Given the description of an element on the screen output the (x, y) to click on. 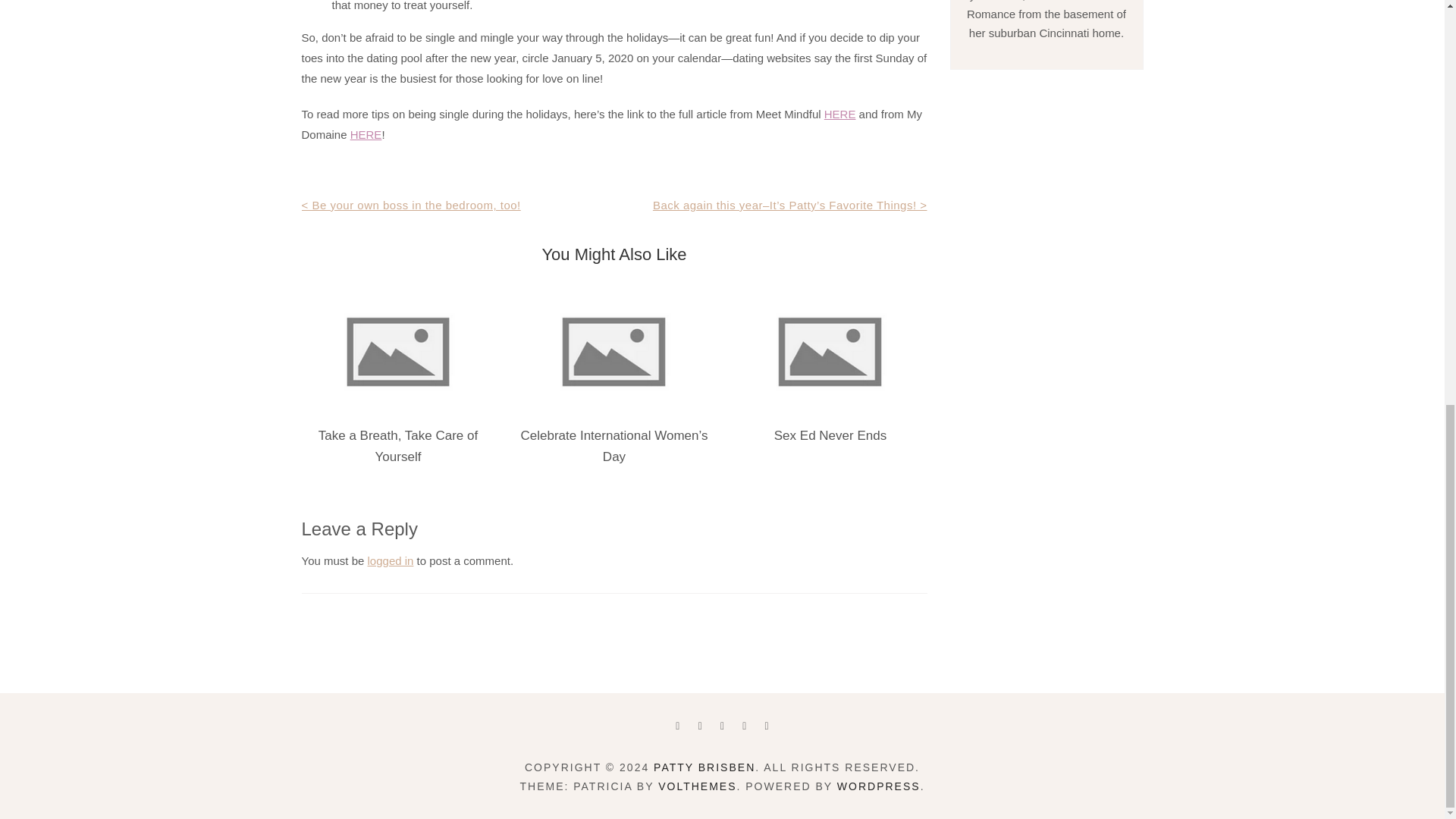
VOLTHEMES (697, 786)
HERE (840, 113)
PATTY BRISBEN (704, 767)
logged in (390, 560)
Take a Breath, Take Care of Yourself (397, 446)
Patty Brisben (704, 767)
HERE (365, 133)
WordPress (878, 786)
Sex Ed Never Ends (830, 435)
VolThemes (697, 786)
